Given the description of an element on the screen output the (x, y) to click on. 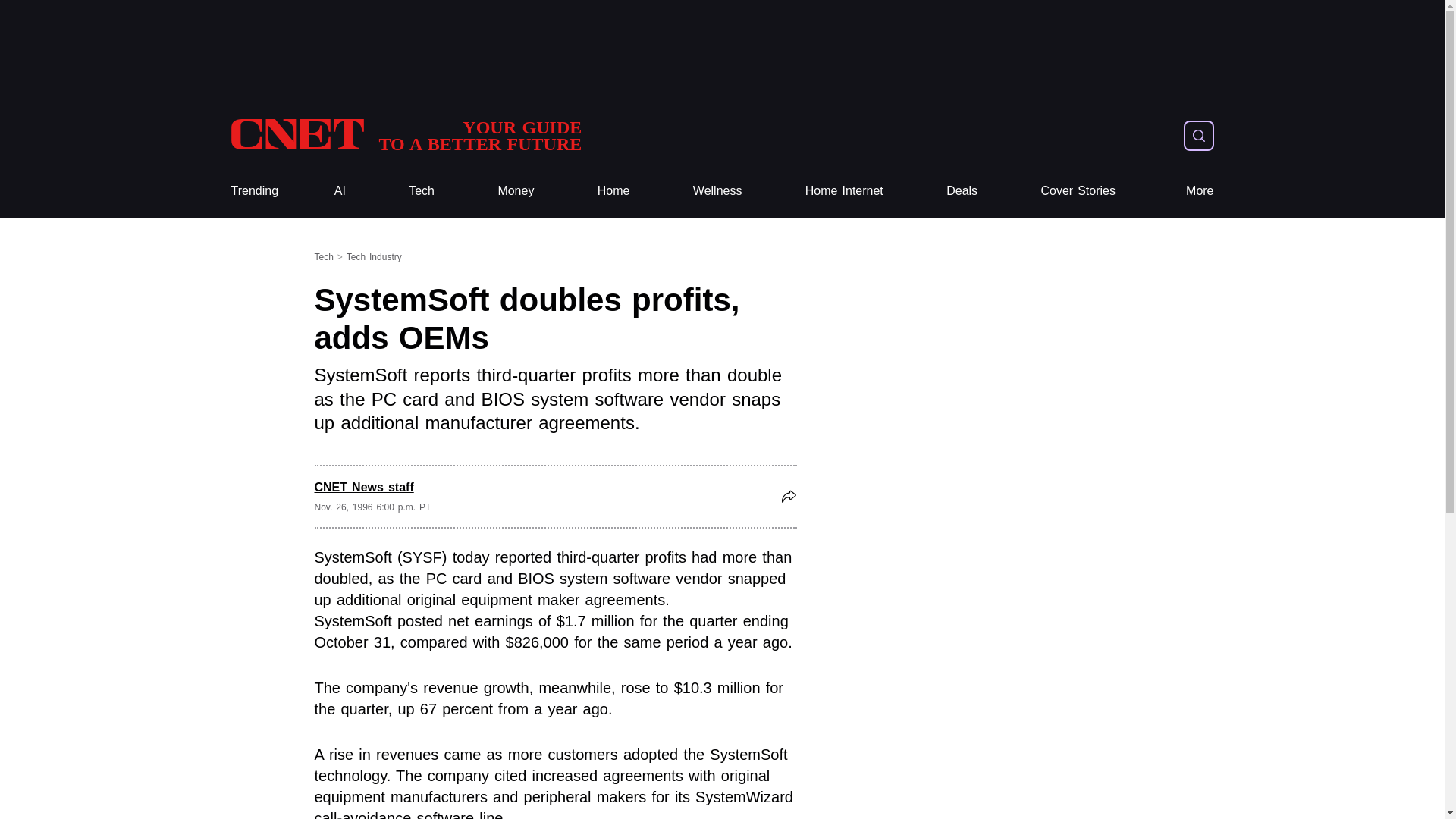
Cover Stories (1078, 190)
More (1199, 190)
Home Internet (844, 190)
Home (613, 190)
Money (515, 190)
Wellness (717, 190)
Tech (421, 190)
CNET (405, 135)
Trending (254, 190)
Money (515, 190)
Tech (421, 190)
Home Internet (405, 135)
Deals (844, 190)
Trending (961, 190)
